Given the description of an element on the screen output the (x, y) to click on. 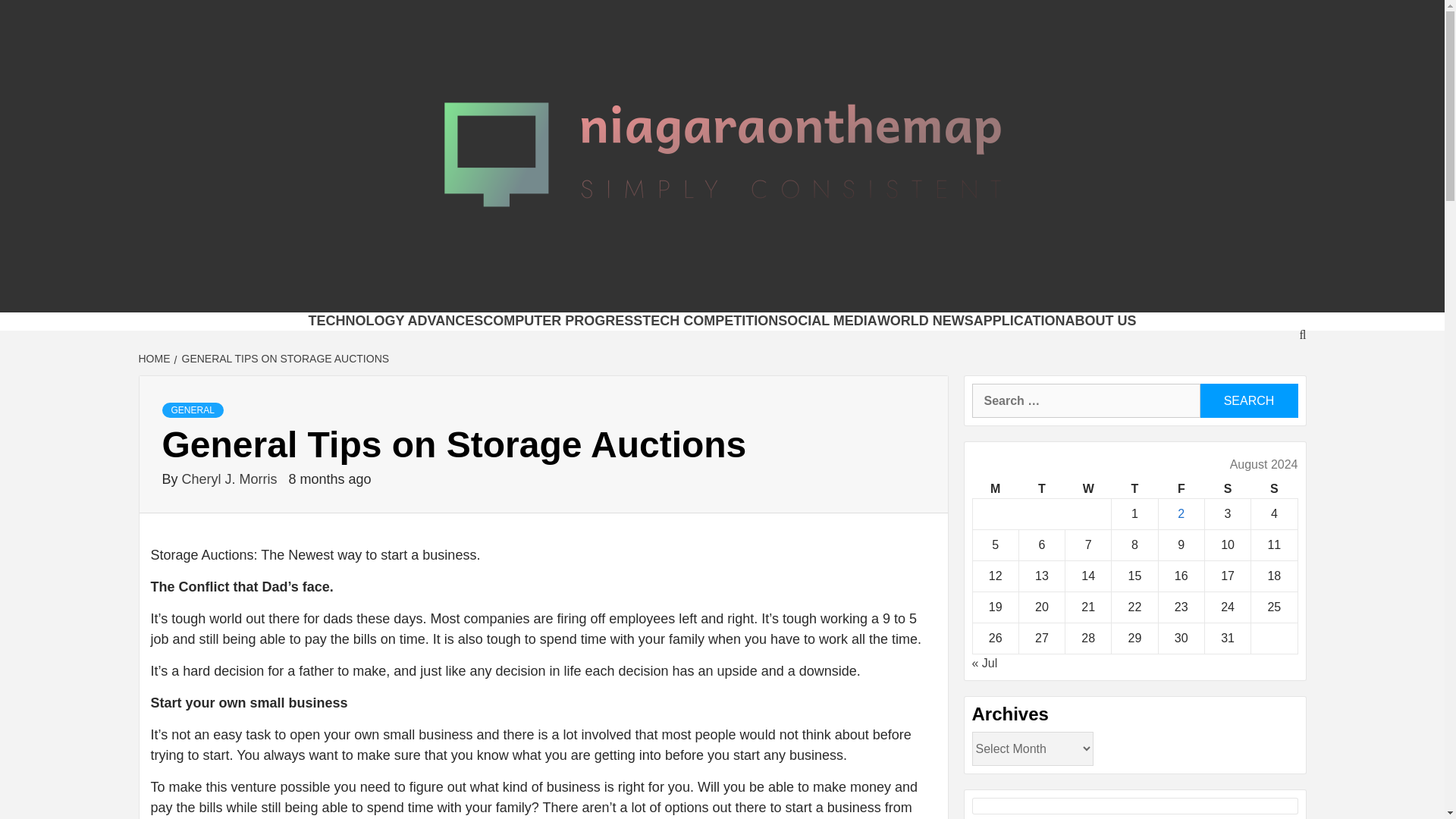
Search (1248, 400)
WORLD NEWS (925, 320)
NIAGARAONTHEMAP (535, 292)
TECHNOLOGY ADVANCES (395, 320)
Search (1248, 400)
HOME (155, 358)
GENERAL TIPS ON STORAGE AUCTIONS (283, 358)
SOCIAL MEDIA (827, 320)
Cheryl J. Morris (231, 478)
COMPUTER PROGRESS (562, 320)
